Given the description of an element on the screen output the (x, y) to click on. 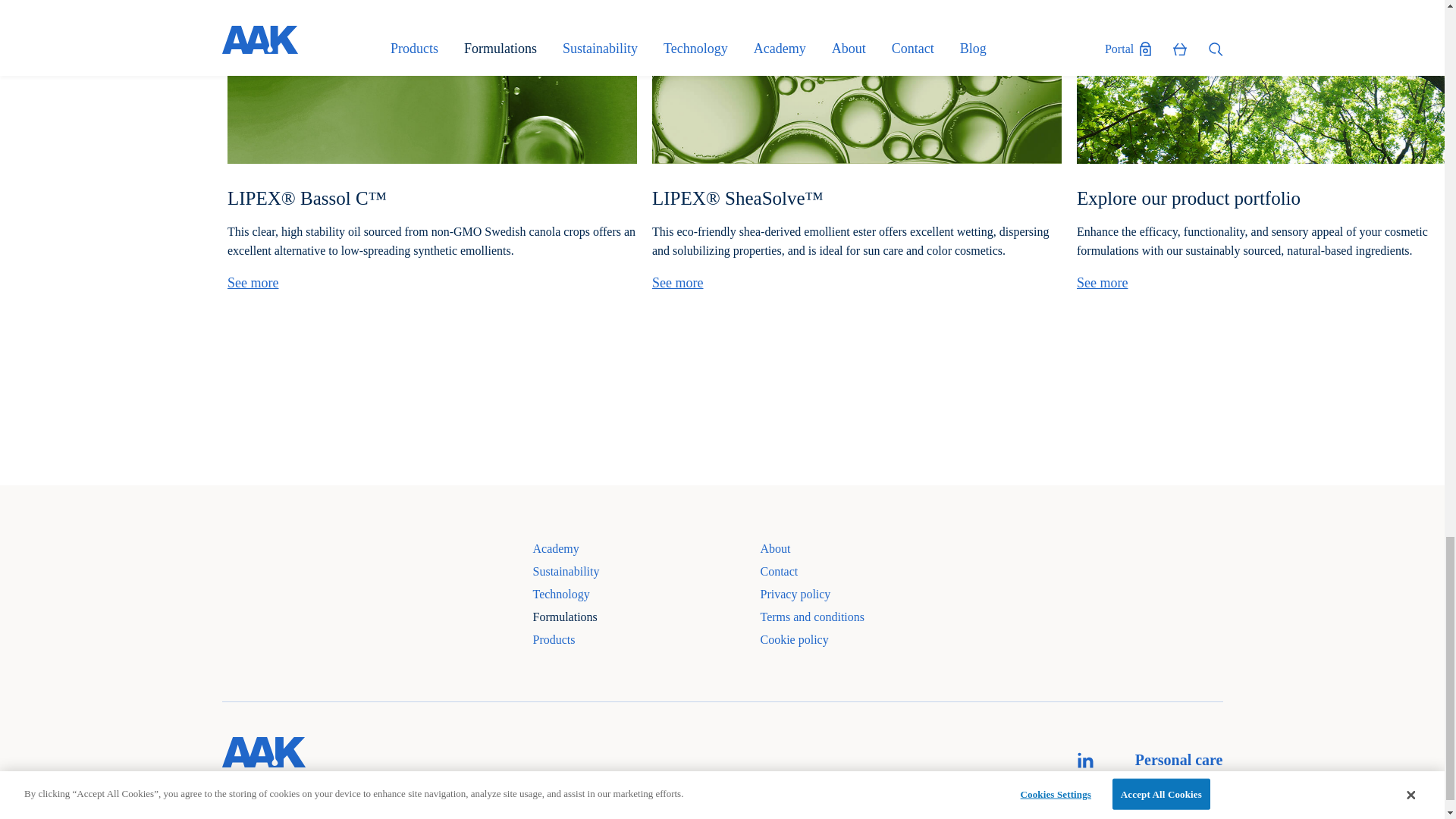
Sustainability (646, 576)
Products (646, 644)
Academy (646, 553)
About (828, 553)
Terms and conditions (828, 621)
Technology (646, 599)
Contact (828, 576)
Formulations (646, 621)
Privacy policy (828, 599)
